Given the description of an element on the screen output the (x, y) to click on. 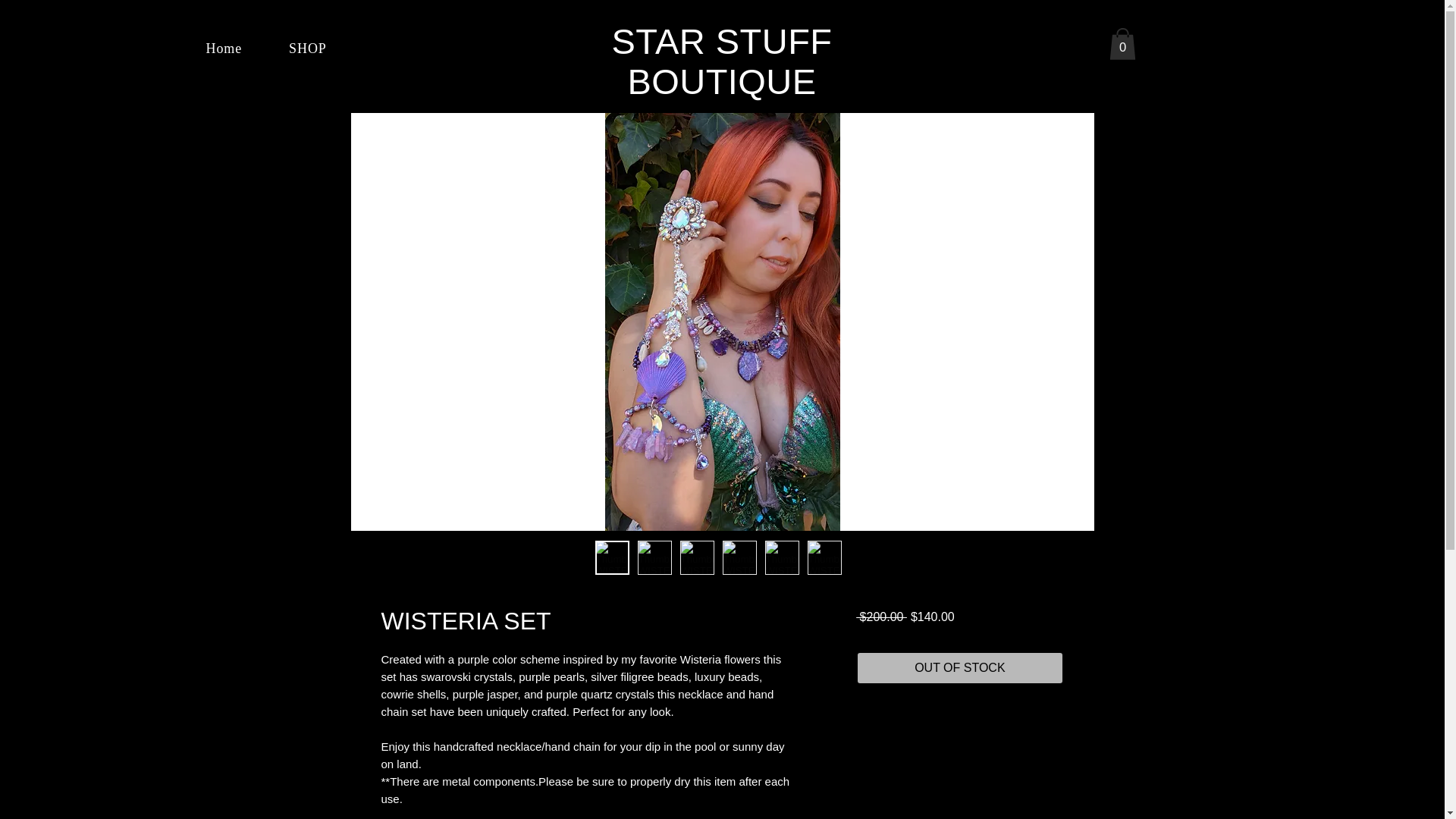
Home (224, 48)
OUT OF STOCK (959, 667)
SHOP (307, 48)
